Given the description of an element on the screen output the (x, y) to click on. 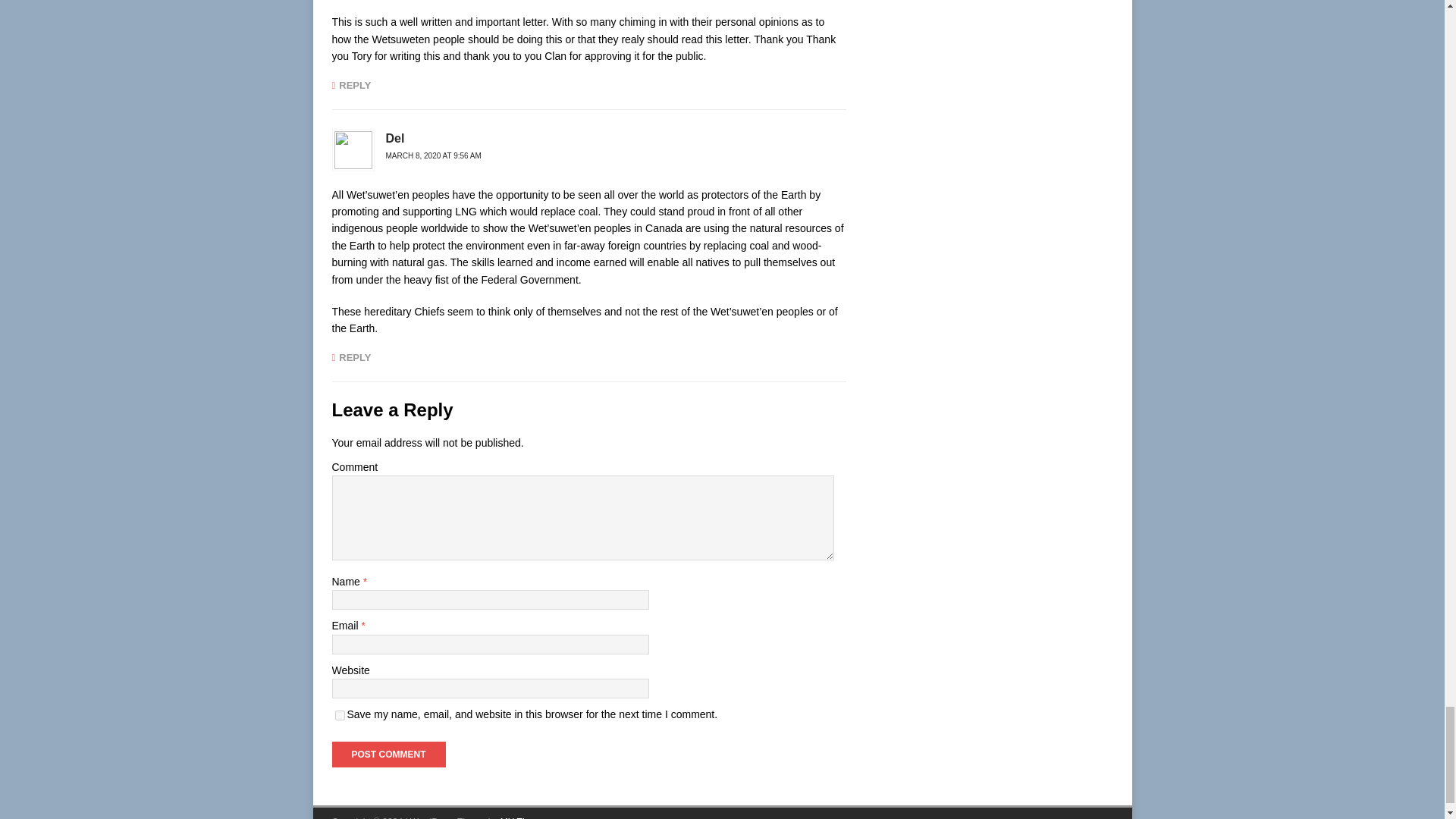
REPLY (351, 84)
REPLY (351, 357)
Post Comment (388, 754)
MARCH 8, 2020 AT 9:56 AM (432, 155)
Post Comment (388, 754)
yes (339, 715)
